Given the description of an element on the screen output the (x, y) to click on. 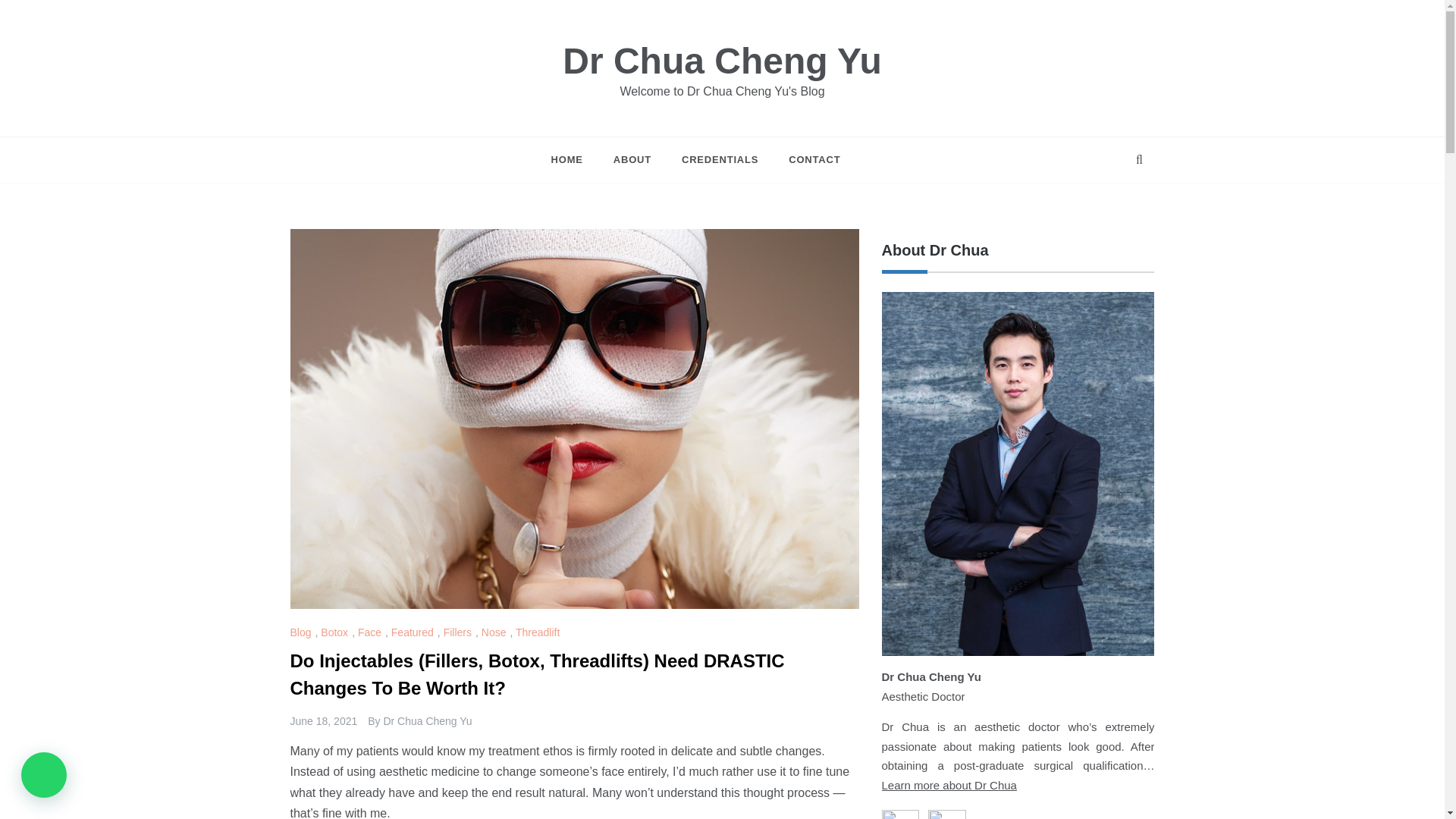
Face (371, 632)
Dr Chua Cheng Yu (426, 720)
Learn more about Dr Chua (948, 784)
Threadlift (539, 632)
CONTACT (806, 159)
Featured (414, 632)
HOME (574, 159)
Botox (336, 632)
Blog (301, 632)
Dr Chua Cheng Yu (722, 60)
